Given the description of an element on the screen output the (x, y) to click on. 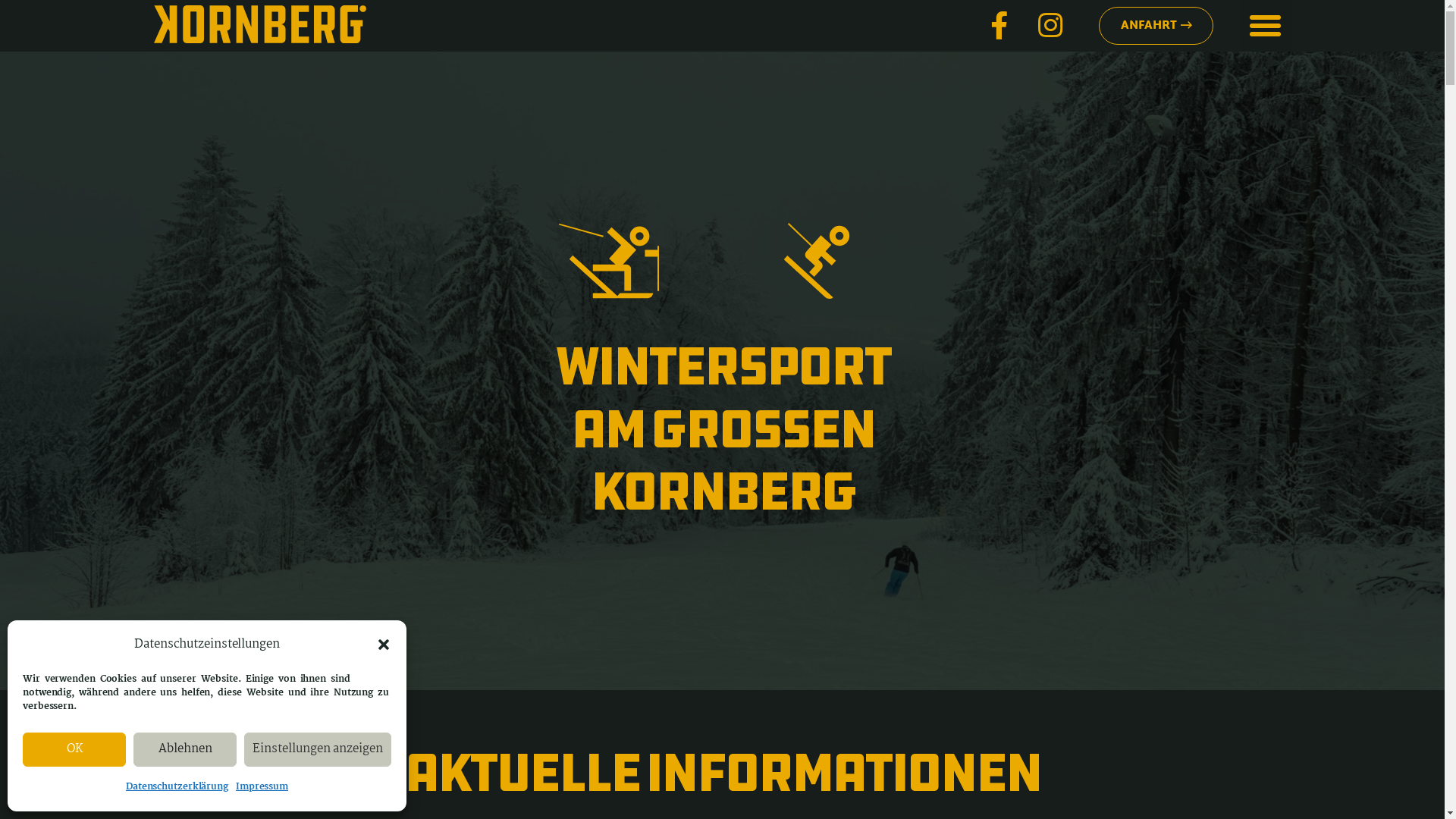
Ablehnen Element type: text (184, 749)
OK Element type: text (73, 749)
Einstellungen anzeigen Element type: text (317, 749)
ANFAHRT Element type: text (1155, 25)
Impressum Element type: text (261, 787)
